Given the description of an element on the screen output the (x, y) to click on. 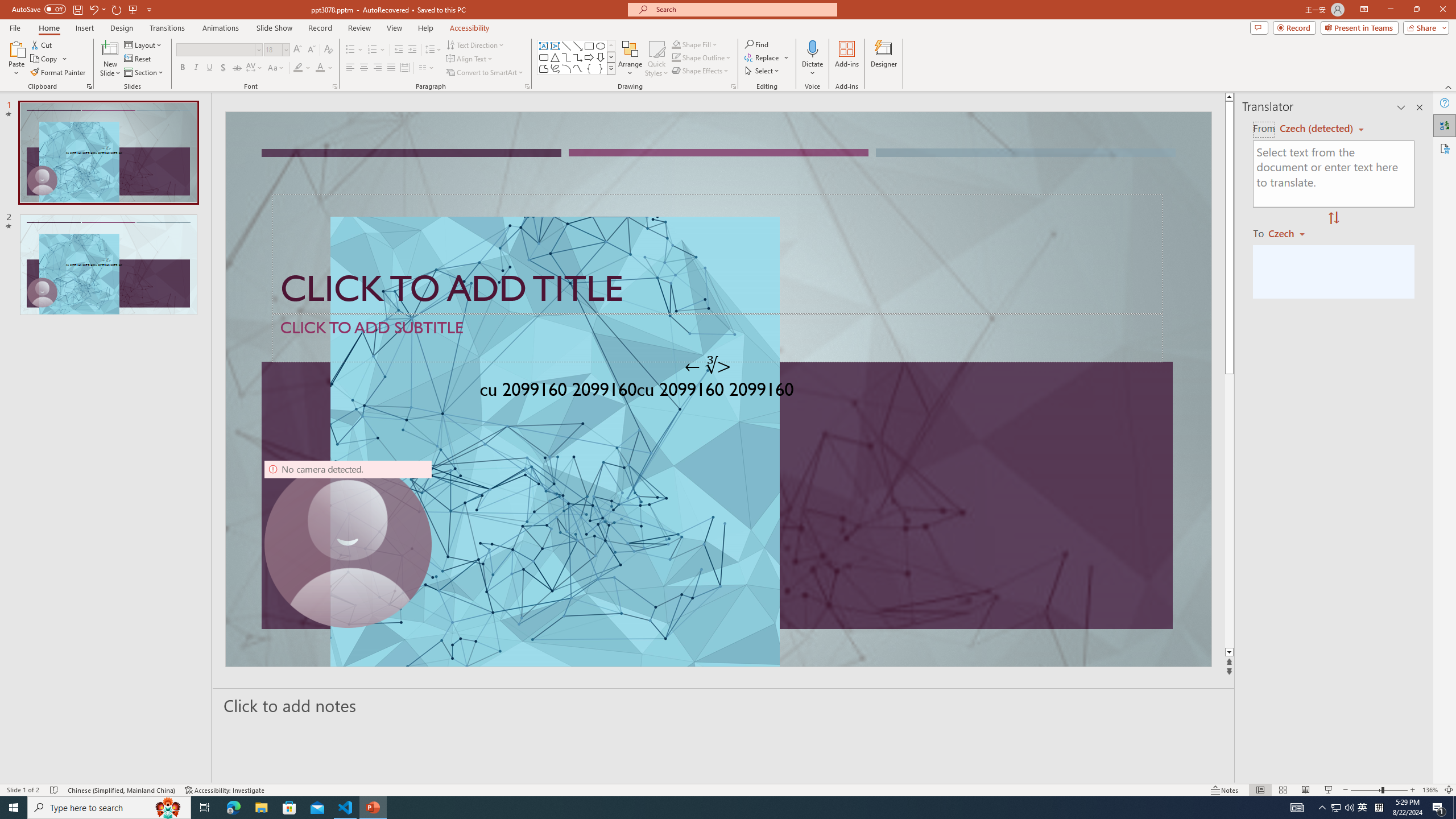
Align Right (377, 67)
Subtitle TextBox (717, 337)
Decrease Indent (398, 49)
Microsoft search (742, 9)
Arrow: Down (600, 57)
Shape Outline Green, Accent 1 (675, 56)
Title TextBox (717, 254)
Clear Formatting (327, 49)
New Slide (110, 48)
Slide Notes (724, 705)
Freeform: Scribble (554, 68)
Text Highlight Color Yellow (297, 67)
